Given the description of an element on the screen output the (x, y) to click on. 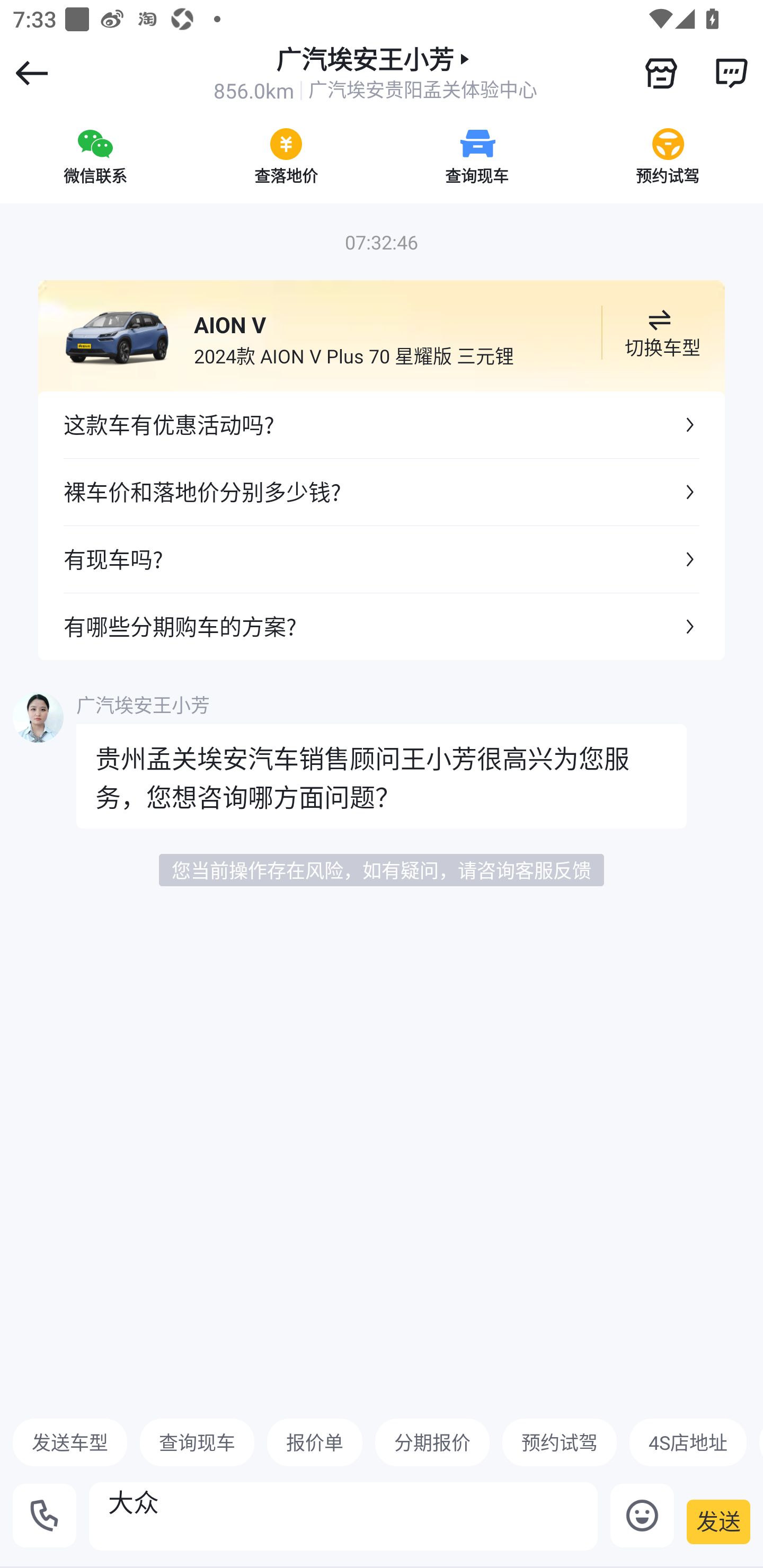
广汽埃安王小芳 856.0km 广汽埃安贵阳孟关体验中心 (374, 73)
 (730, 72)
 (661, 73)
微信联系 (95, 155)
查落地价 (285, 155)
查询现车 (476, 155)
预约试驾 (667, 155)
切换车型 (659, 332)
这款车有优惠活动吗? (381, 424)
裸车价和落地价分别多少钱? (381, 492)
有现车吗? (381, 558)
有哪些分期购车的方案? (381, 626)
贵州孟关埃安汽车销售顾问王小芳很高兴为您服务，您想咨询哪方面问题？ (381, 775)
发送车型 (69, 1442)
查询现车 (196, 1442)
报价单 (314, 1442)
分期报价 (432, 1442)
预约试驾 (559, 1442)
4S店地址 (687, 1442)
大众
 (343, 1515)
发送 (718, 1521)
